Given the description of an element on the screen output the (x, y) to click on. 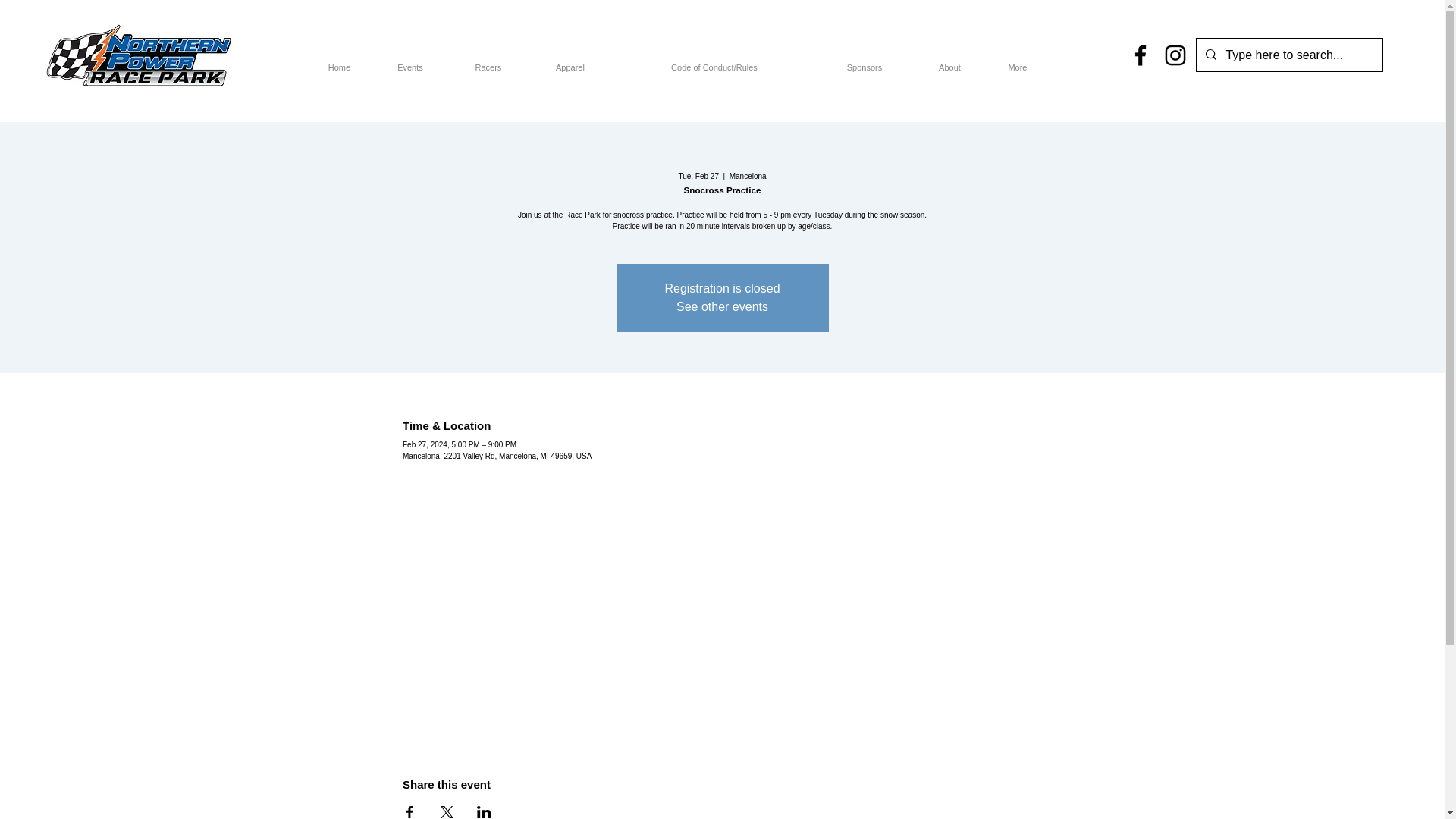
About (948, 60)
NPE Race Park Logo.jpg (138, 54)
Apparel (569, 60)
Home (339, 60)
Sponsors (863, 60)
See other events (722, 306)
